Given the description of an element on the screen output the (x, y) to click on. 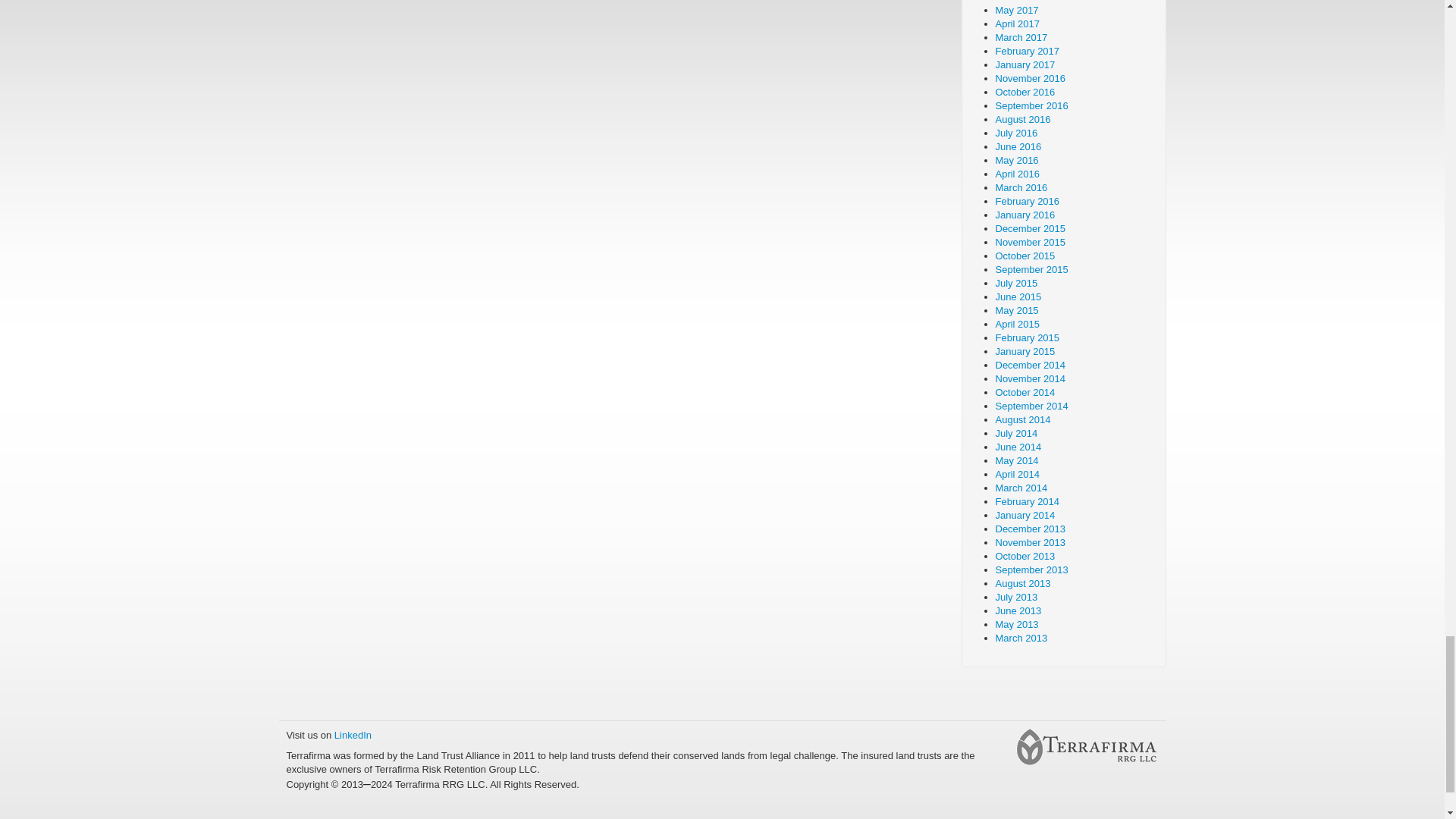
title (1085, 747)
